Given the description of an element on the screen output the (x, y) to click on. 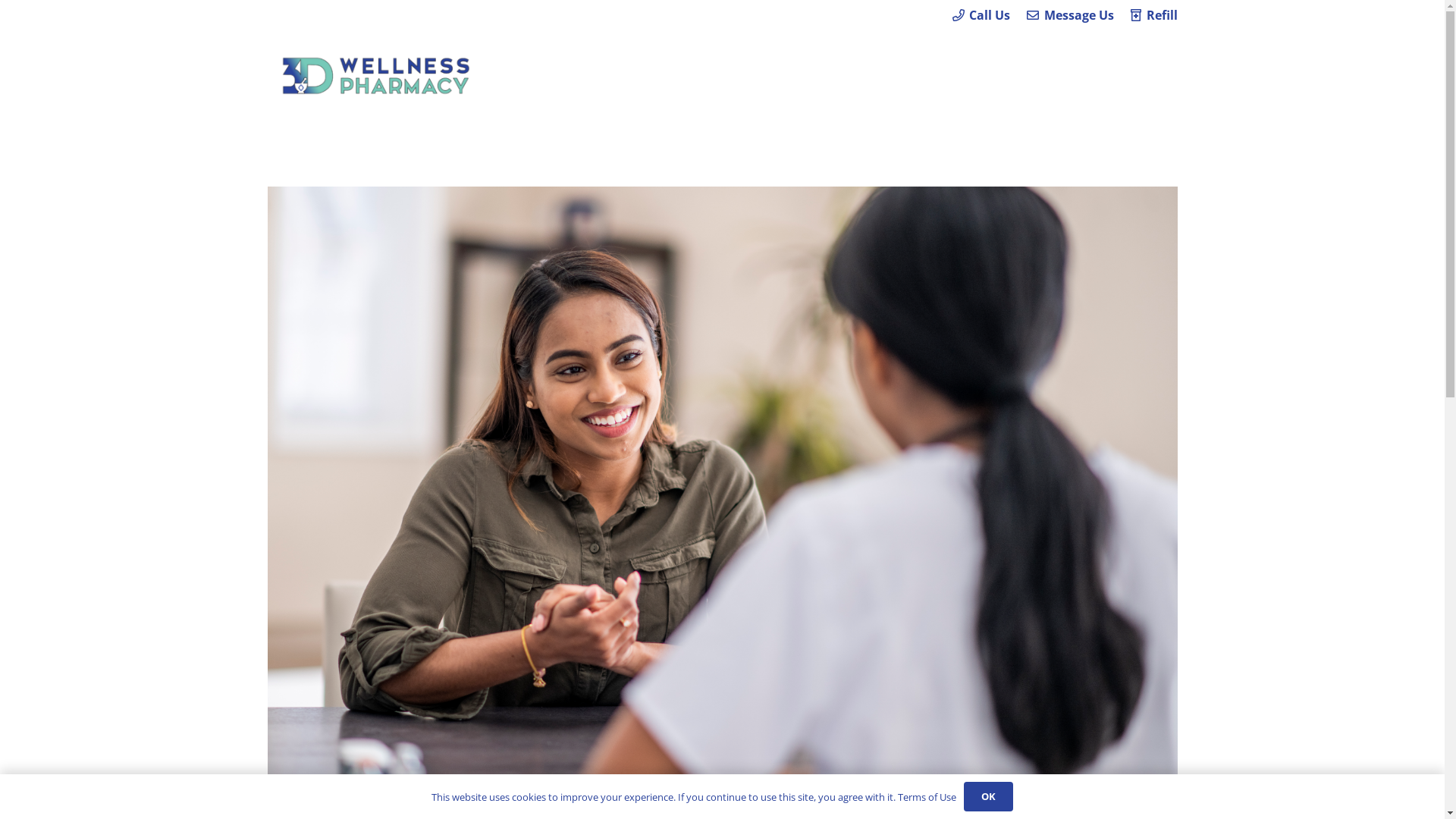
Providers Element type: text (926, 71)
Patients Element type: text (833, 71)
Refill Element type: text (1153, 14)
Call Us Element type: text (981, 14)
The Importance of Disease State Management Element type: text (465, 797)
Terms of Use Element type: text (926, 796)
OK Element type: text (988, 796)
About Us Element type: text (1021, 71)
Contact Us Element type: text (1122, 71)
Message Us Element type: text (1069, 14)
